Given the description of an element on the screen output the (x, y) to click on. 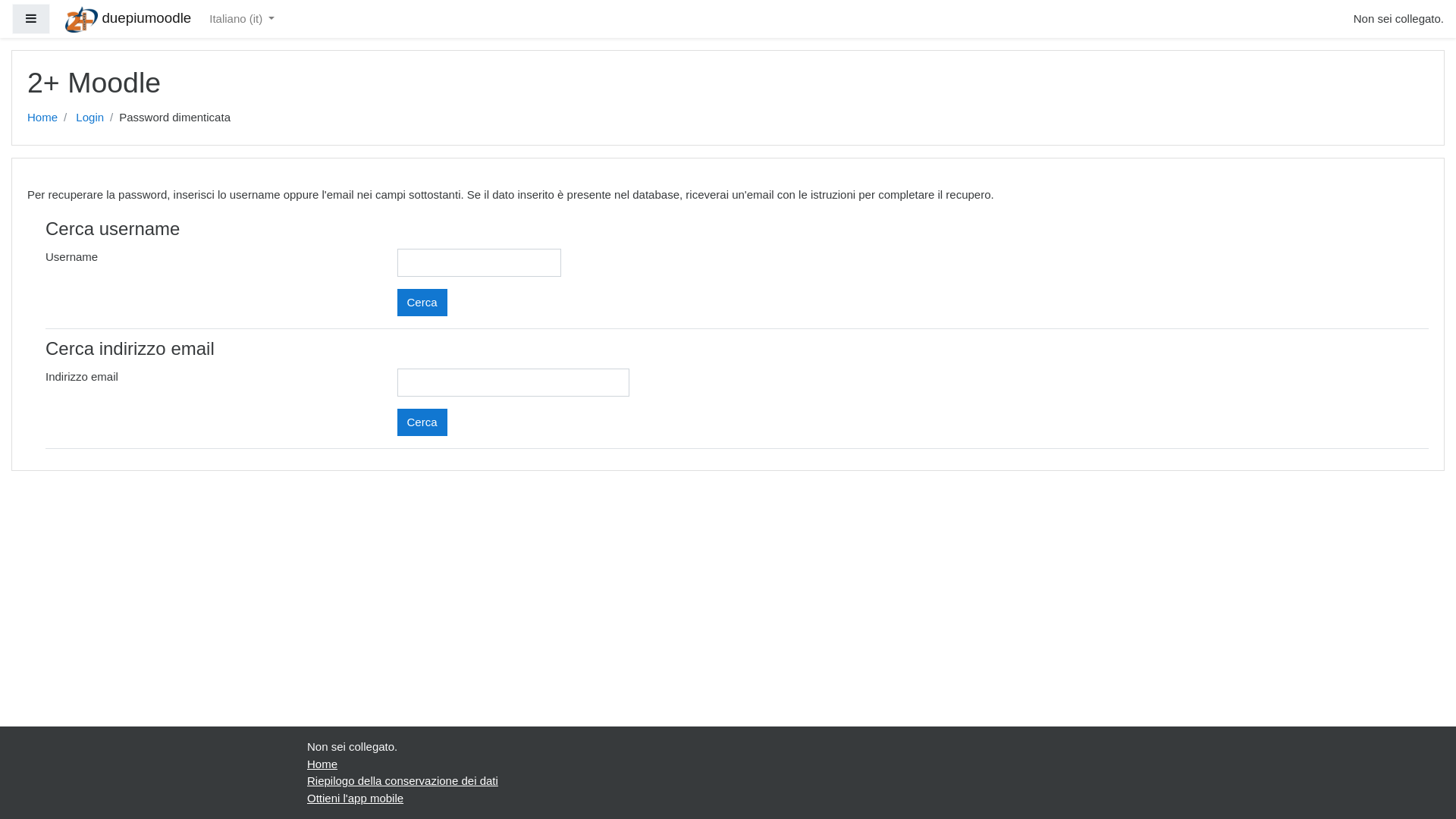
Login Element type: text (89, 116)
Ottieni l'app mobile Element type: text (355, 797)
Pannello laterale Element type: text (31, 18)
Cerca Element type: text (422, 302)
Riepilogo della conservazione dei dati Element type: text (402, 780)
Home Element type: text (42, 116)
Home Element type: text (322, 762)
Cerca Element type: text (422, 421)
duepiumoodle Element type: text (128, 18)
Italiano (it) Element type: text (241, 19)
